Given the description of an element on the screen output the (x, y) to click on. 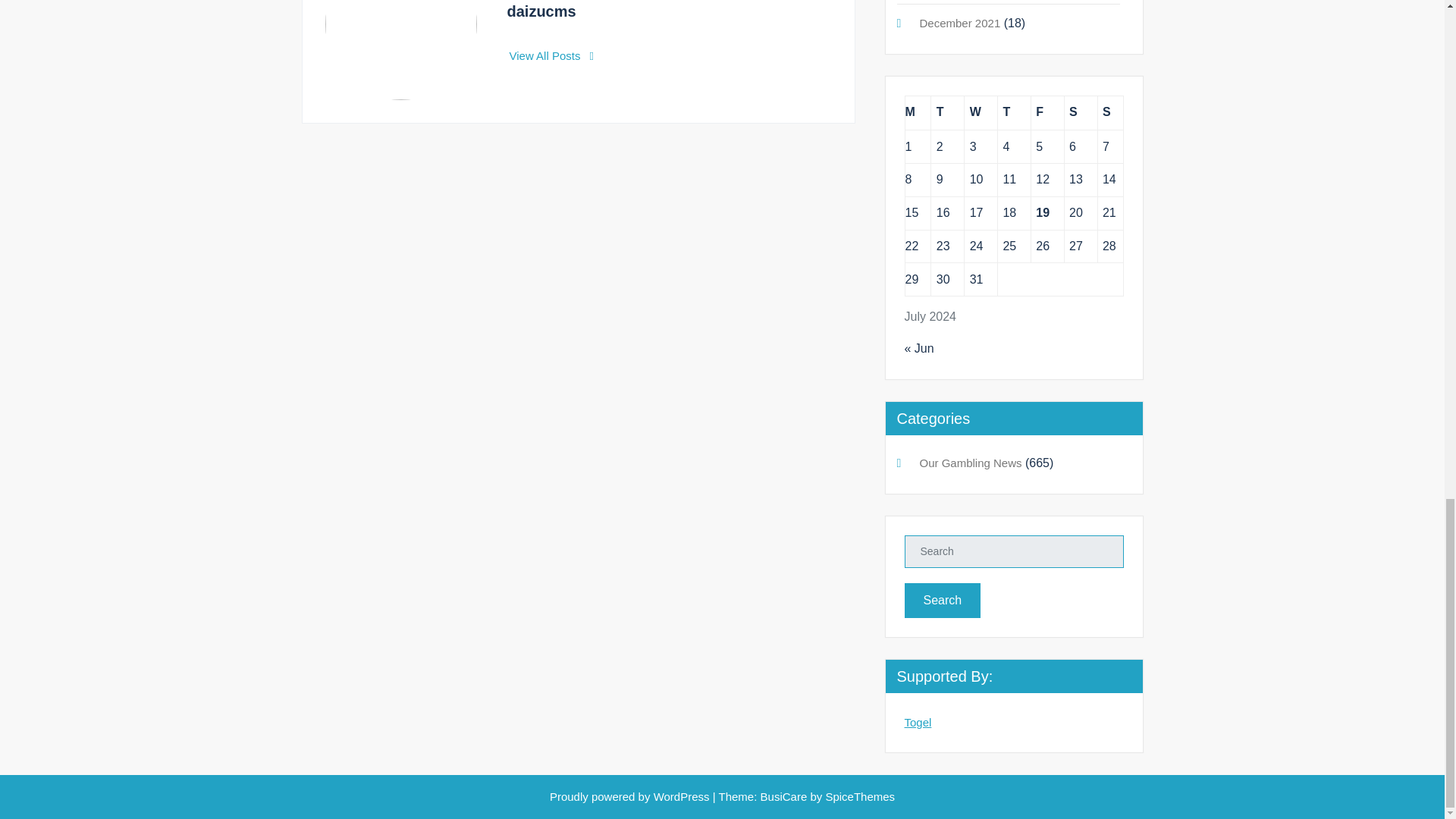
View All Posts (551, 55)
Wednesday (980, 112)
Saturday (1080, 112)
Tuesday (947, 112)
Friday (1047, 112)
Thursday (1013, 112)
